Given the description of an element on the screen output the (x, y) to click on. 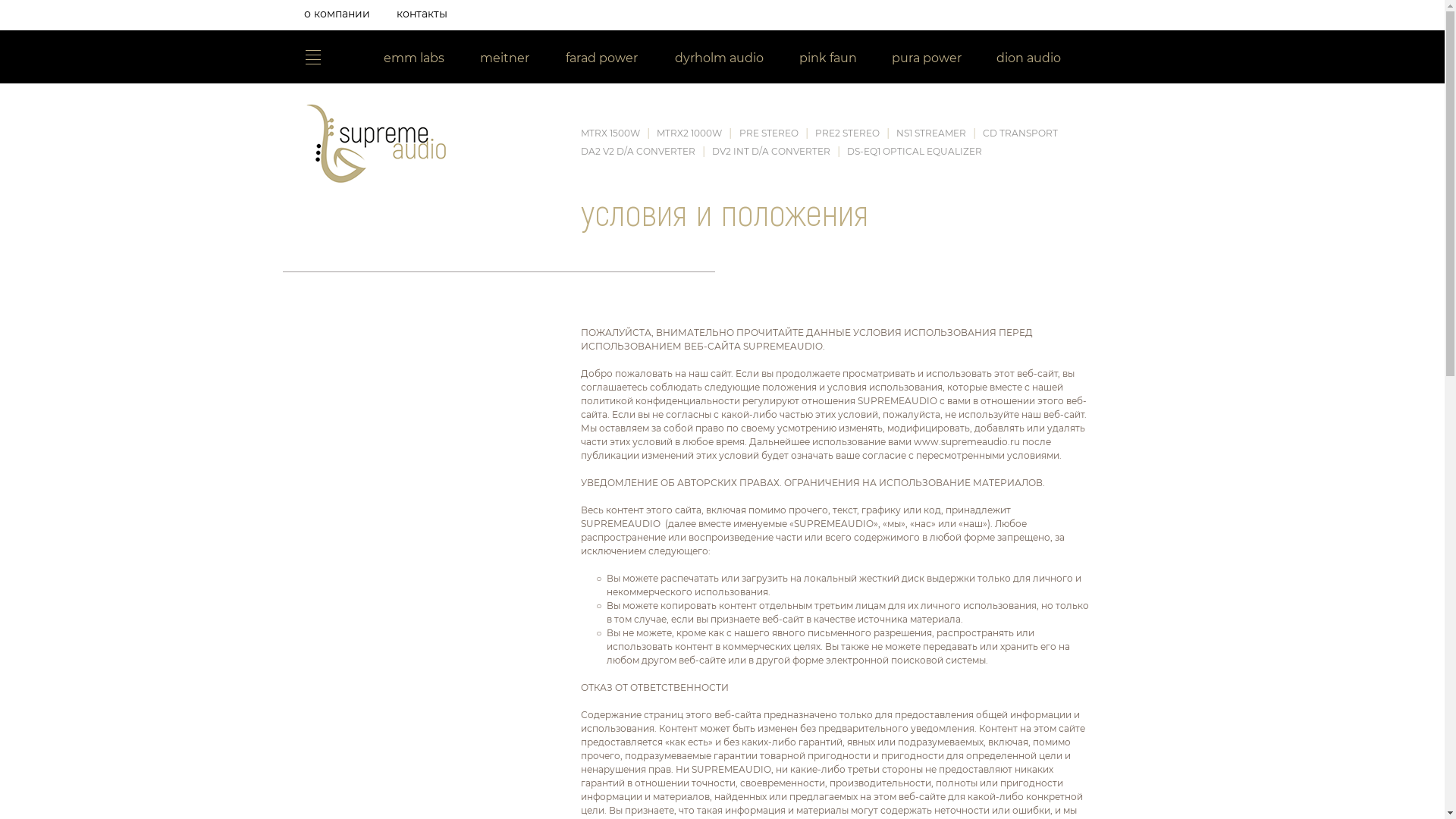
DS-EQ1 OPTICAL EQUALIZER Element type: text (914, 150)
PRE2 STEREO Element type: text (847, 132)
emm labs Element type: text (414, 59)
farad power Element type: text (601, 59)
meitner Element type: text (504, 59)
dion audio Element type: text (1029, 59)
CD TRANSPORT Element type: text (1019, 132)
NS1 STREAMER Element type: text (931, 132)
DV2 INT D/A CONVERTER Element type: text (771, 150)
pura power Element type: text (926, 59)
PRE STEREO Element type: text (768, 132)
MTRX2 1000W Element type: text (688, 132)
MTRX 1500W Element type: text (611, 132)
DA2 V2 D/A CONVERTER Element type: text (637, 150)
LOGO BRANDS Element type: hover (312, 57)
dyrholm audio Element type: text (718, 59)
pink faun Element type: text (827, 59)
